Given the description of an element on the screen output the (x, y) to click on. 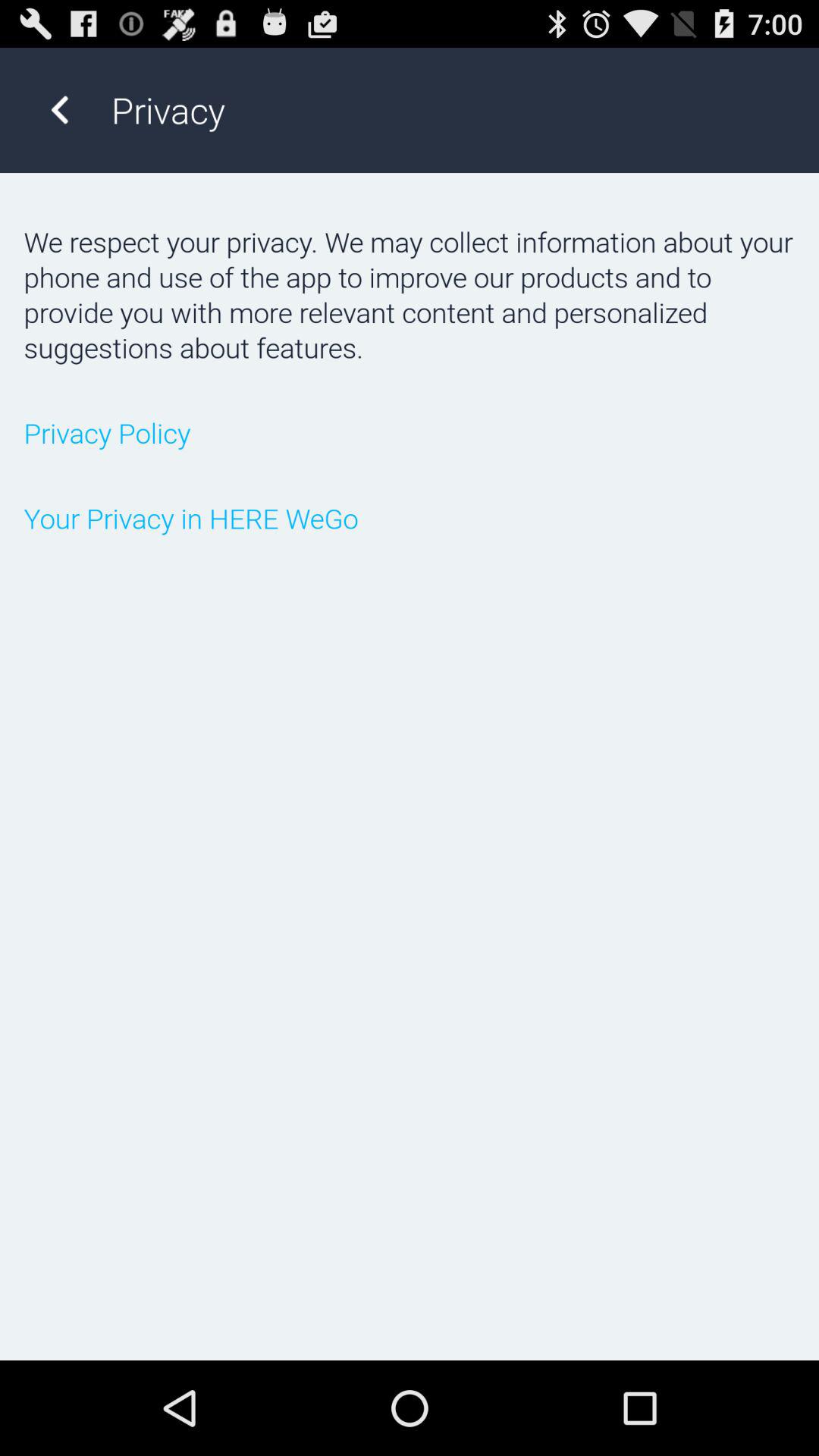
press item to the left of privacy item (59, 109)
